Given the description of an element on the screen output the (x, y) to click on. 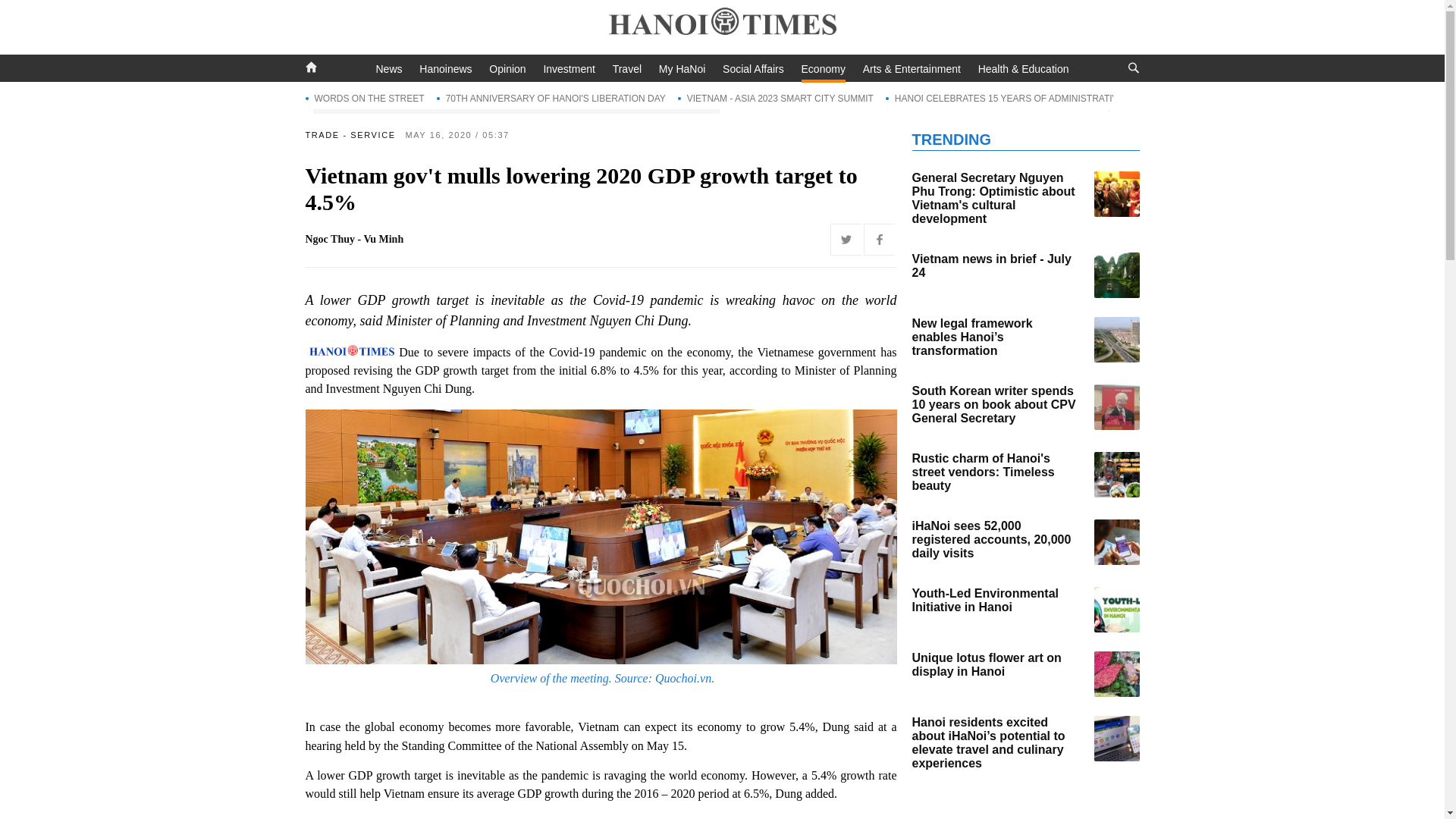
News (389, 69)
Hanoinews (445, 69)
Youth-Led Environmental Initiative in Hanoi (1115, 609)
Vietnam - Asia 2023 Smart City Summit  (775, 98)
Vietnam news in brief - July 24 (1115, 275)
Opinion (507, 69)
Economy (823, 70)
Hanoi Times (721, 24)
Travel (627, 69)
WORDS ON THE STREET (363, 98)
Unique lotus flower art on display in Hanoi (1115, 673)
Investment (568, 69)
Rustic charm of Hanoi's street vendors: Timeless beauty (1115, 474)
 iHaNoi sees 52,000 registered accounts, 20,000 daily visits (1115, 542)
